Given the description of an element on the screen output the (x, y) to click on. 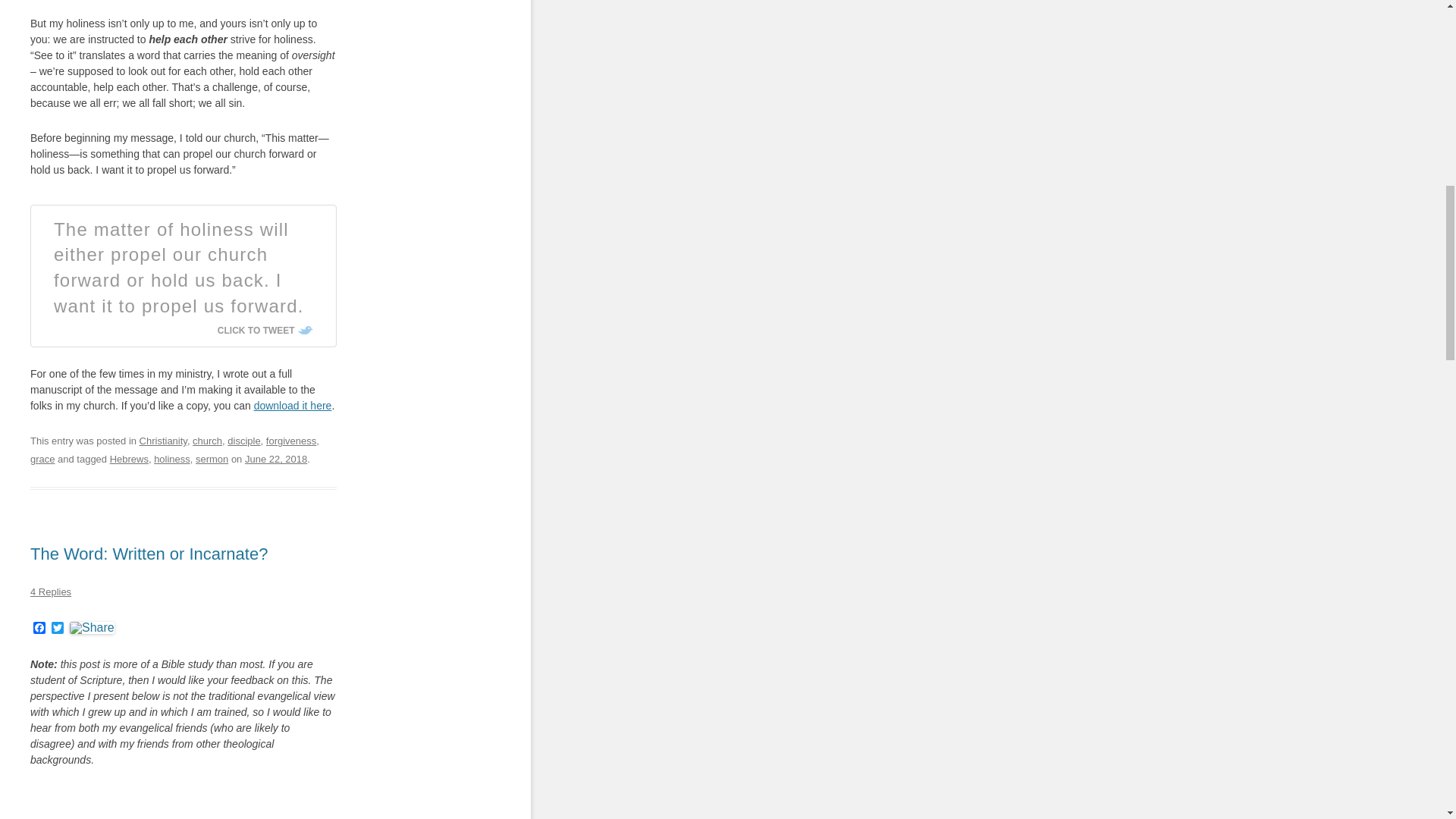
Twitter (57, 628)
download it here (292, 405)
church (207, 440)
forgiveness (290, 440)
Hebrews (129, 459)
CLICK TO TWEET (264, 329)
disciple (243, 440)
grace (42, 459)
Facebook (39, 628)
sermon (211, 459)
